Given the description of an element on the screen output the (x, y) to click on. 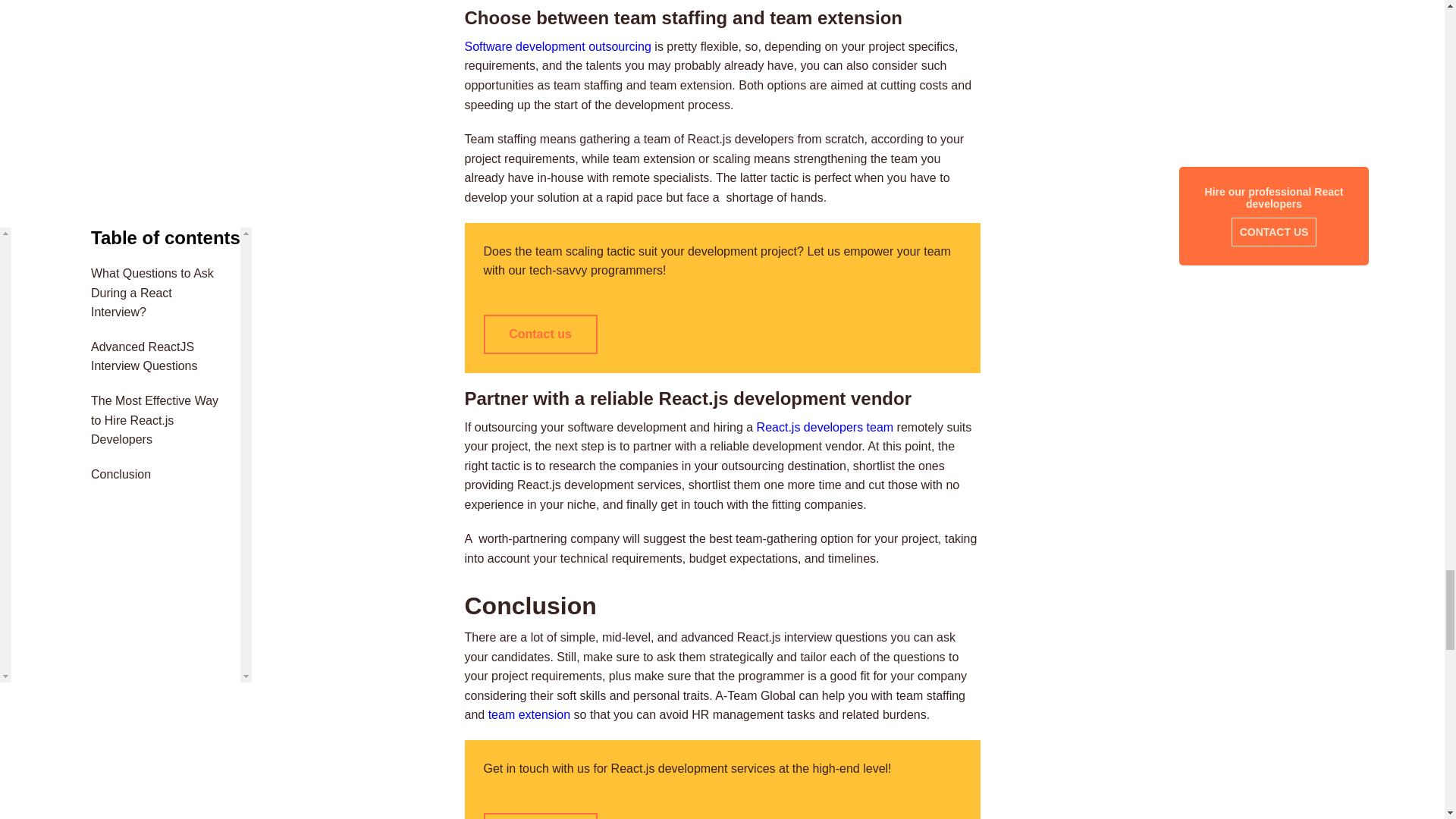
Contact us (539, 816)
React.js developers team (825, 426)
Contact us (539, 333)
team extension (528, 714)
Software development outsourcing (557, 46)
